Given the description of an element on the screen output the (x, y) to click on. 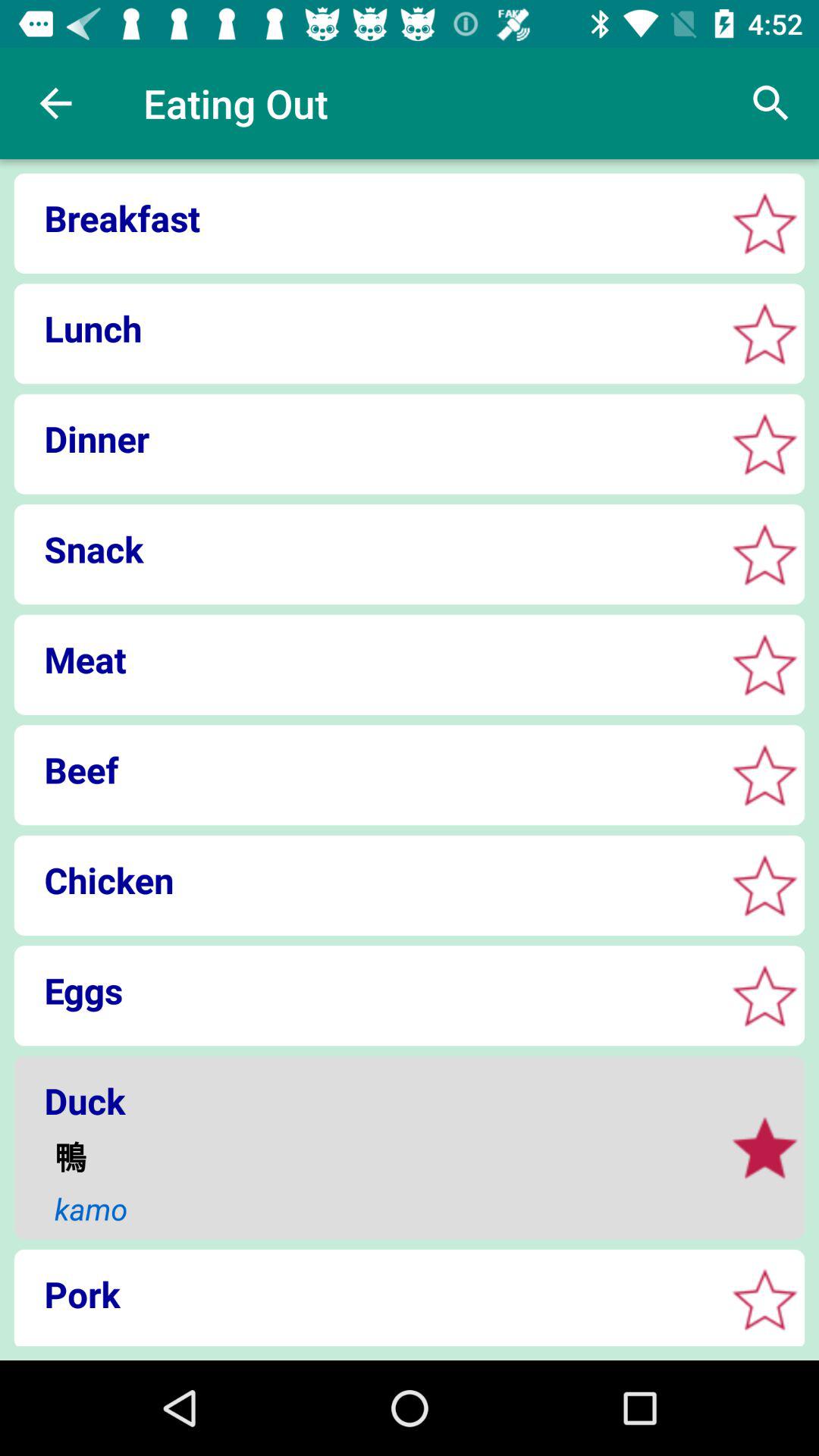
tap the icon above meat (364, 548)
